Given the description of an element on the screen output the (x, y) to click on. 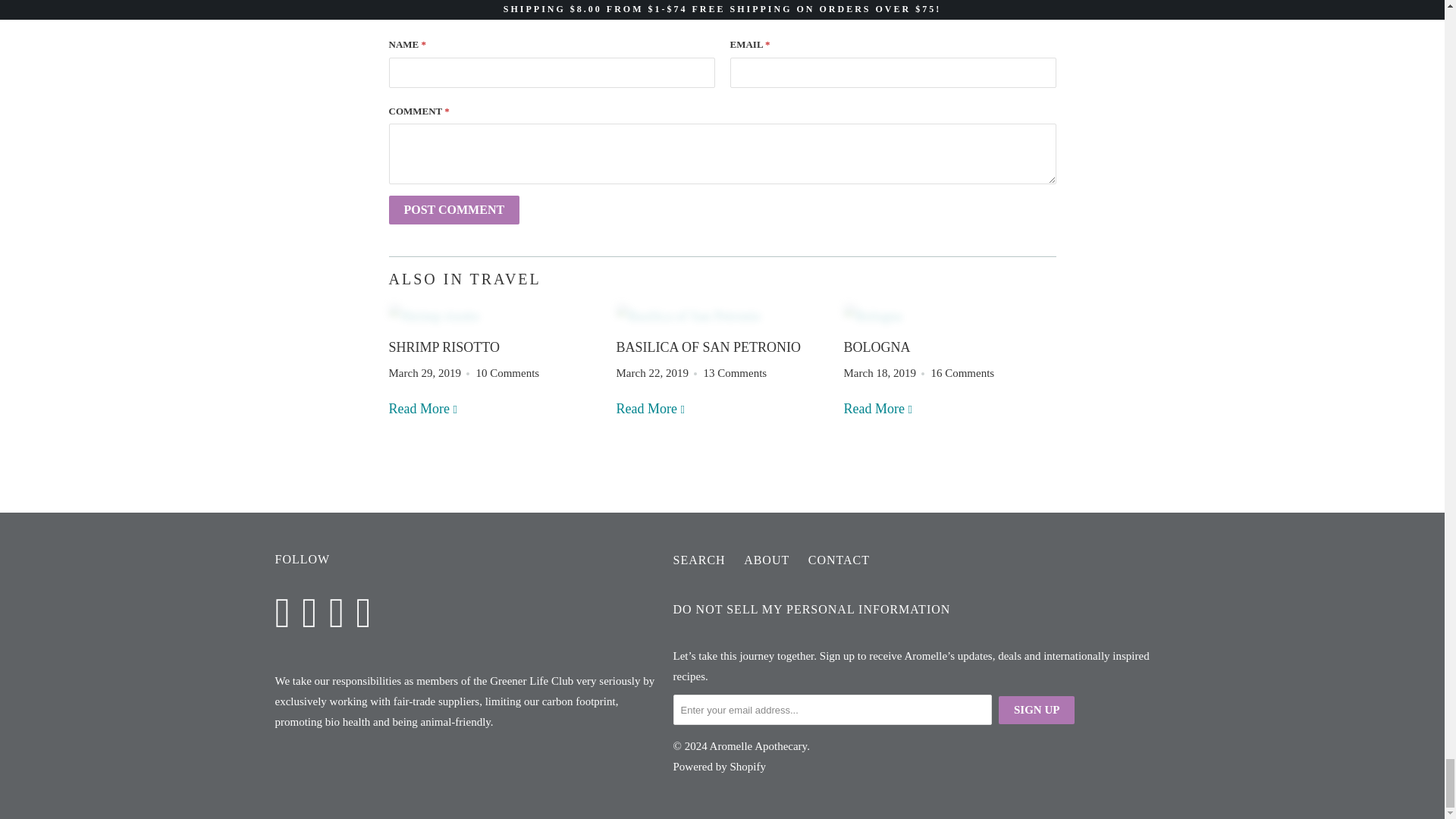
Bologna (949, 315)
Bologna (876, 346)
Basilica of San Petronio (707, 346)
Shrimp risotto (493, 315)
Shrimp risotto (443, 346)
Bologna (878, 408)
Shrimp risotto (423, 408)
Post comment (453, 209)
Sign Up (1036, 709)
Basilica of San Petronio (721, 315)
Basilica of San Petronio (650, 408)
